Given the description of an element on the screen output the (x, y) to click on. 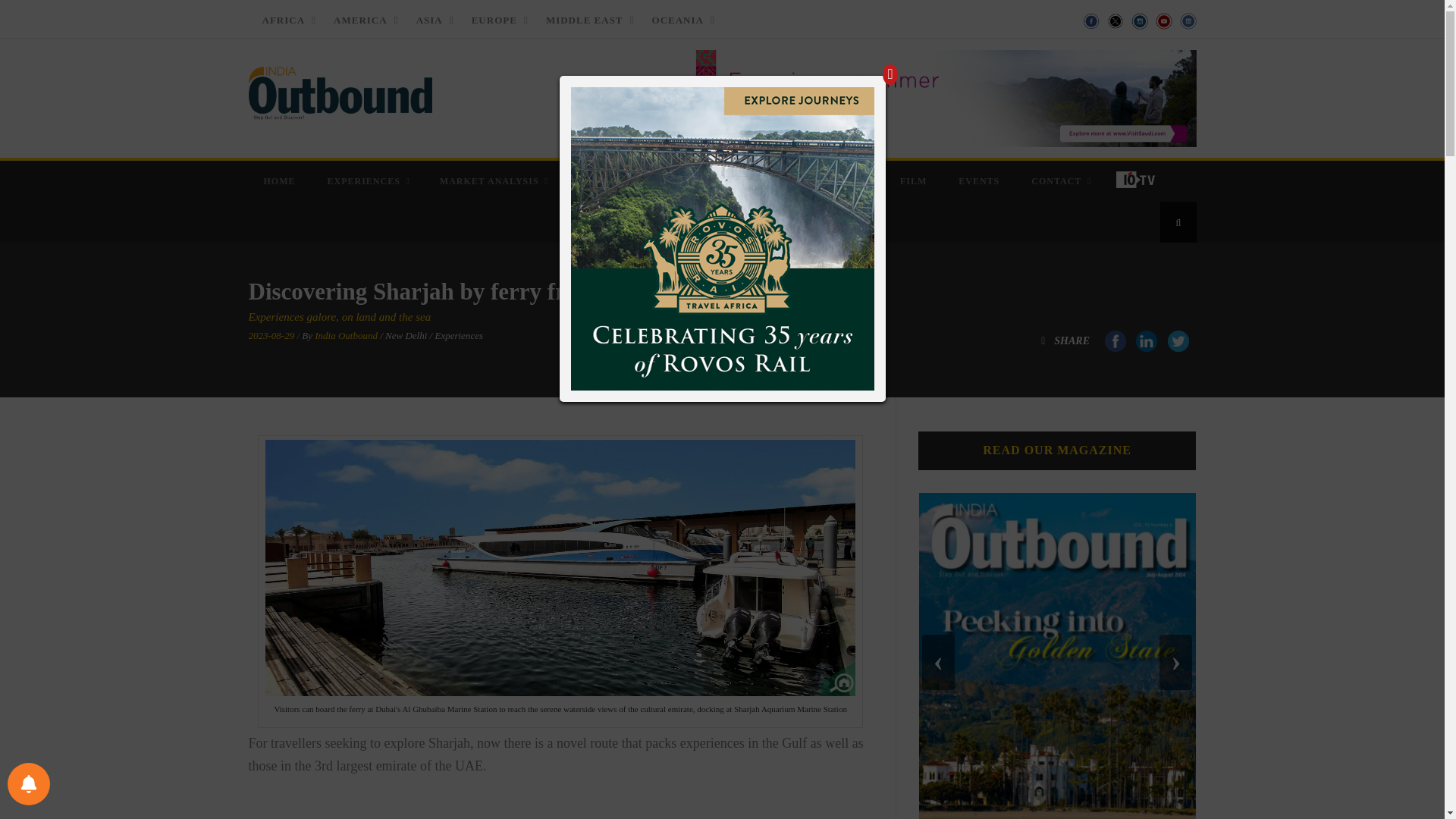
AFRICA (284, 20)
Posts by India Outbound (345, 335)
ASIA (430, 20)
IO TV (1136, 179)
AMERICA (361, 20)
Notifications preferences (28, 783)
Indiaoutbound (340, 88)
